Given the description of an element on the screen output the (x, y) to click on. 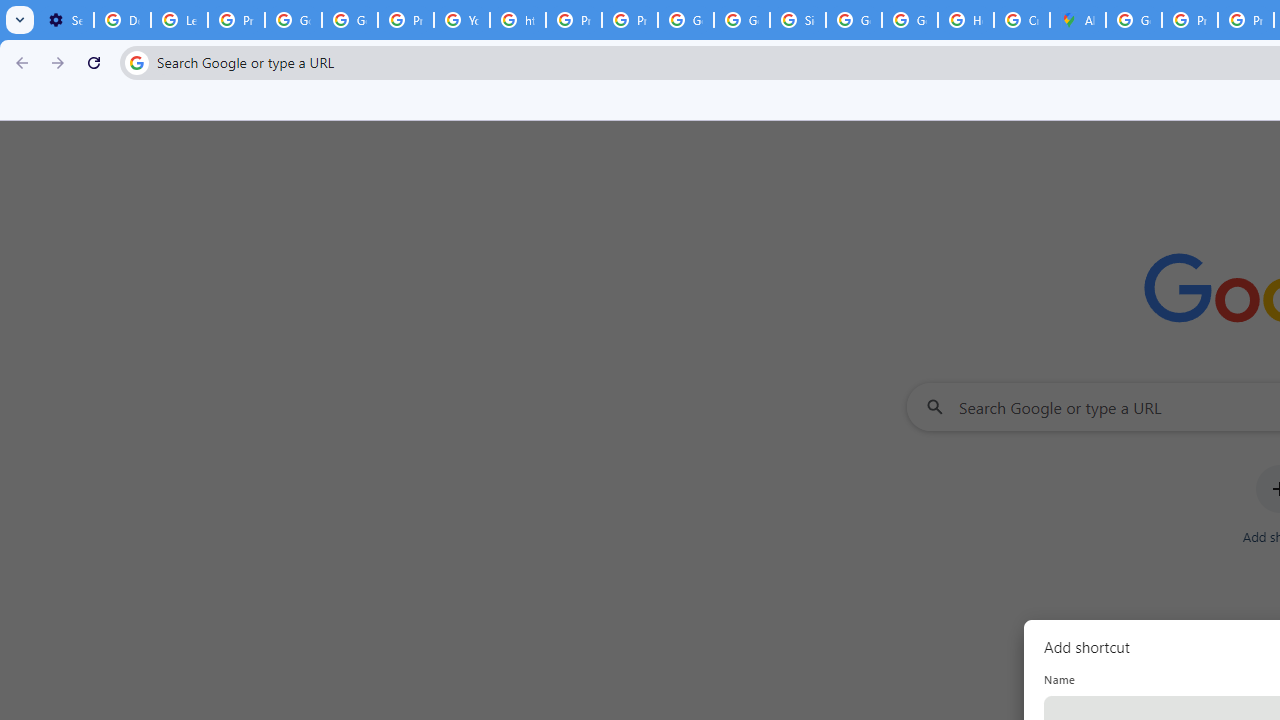
Create your Google Account (1021, 20)
Privacy Help Center - Policies Help (573, 20)
YouTube (461, 20)
Sign in - Google Accounts (797, 20)
Settings - Performance (65, 20)
